Given the description of an element on the screen output the (x, y) to click on. 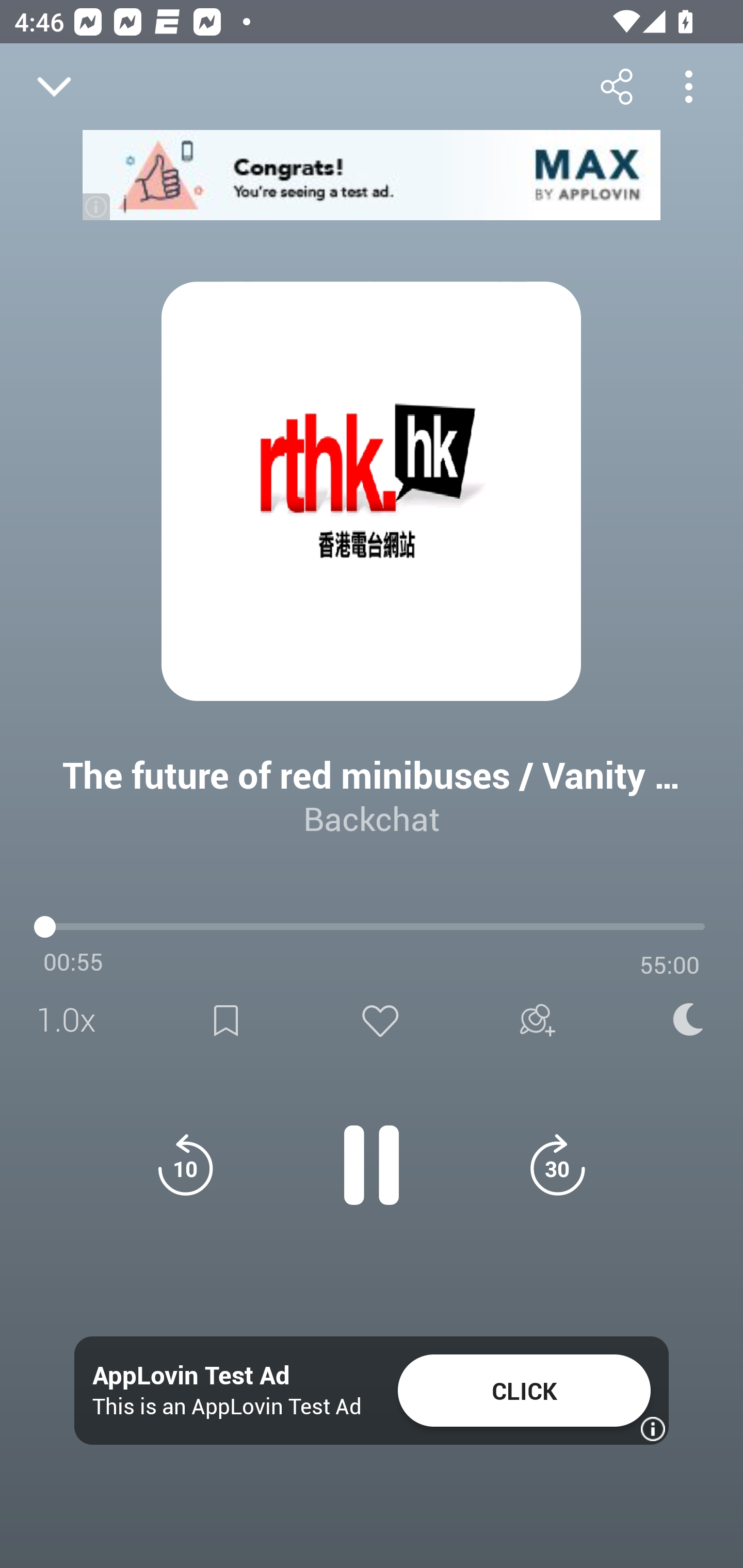
Close fullscreen player (54, 86)
Share (616, 86)
More options (688, 86)
app-monetization (371, 175)
(i) (96, 206)
Backchat (371, 818)
55:00 (669, 964)
1.0x Speed (72, 1020)
Like (380, 1020)
Pause button (371, 1153)
Jump back (185, 1164)
Jump forward (557, 1164)
CLICK (523, 1390)
AppLovin Test Ad (191, 1375)
This is an AppLovin Test Ad (226, 1406)
